Given the description of an element on the screen output the (x, y) to click on. 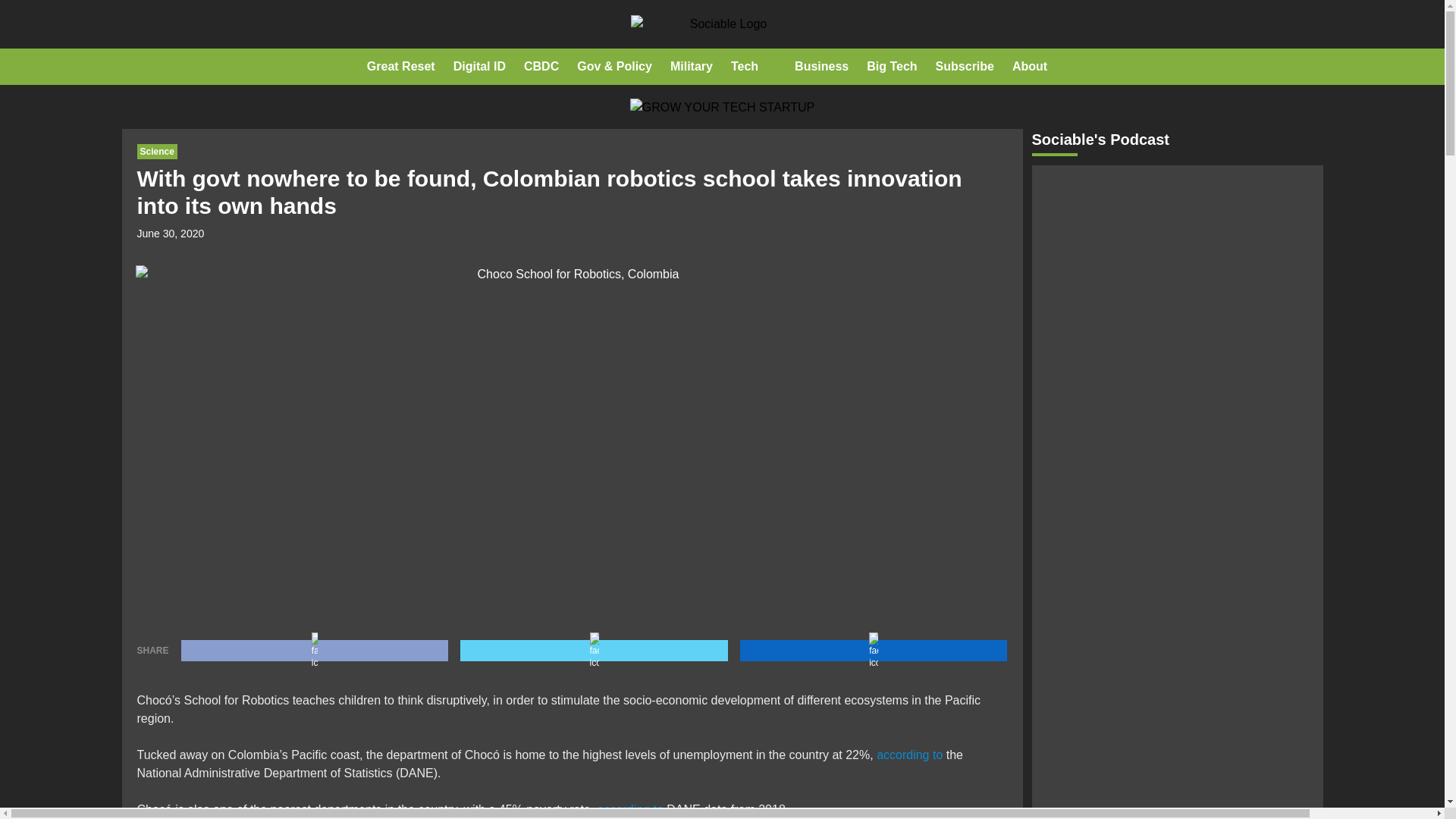
Military (691, 66)
according to (629, 809)
Science (156, 151)
Digital ID (478, 66)
Subscribe (965, 66)
Big Tech (891, 66)
About (1028, 66)
CBDC (541, 66)
Business (821, 66)
Great Reset (400, 66)
